Given the description of an element on the screen output the (x, y) to click on. 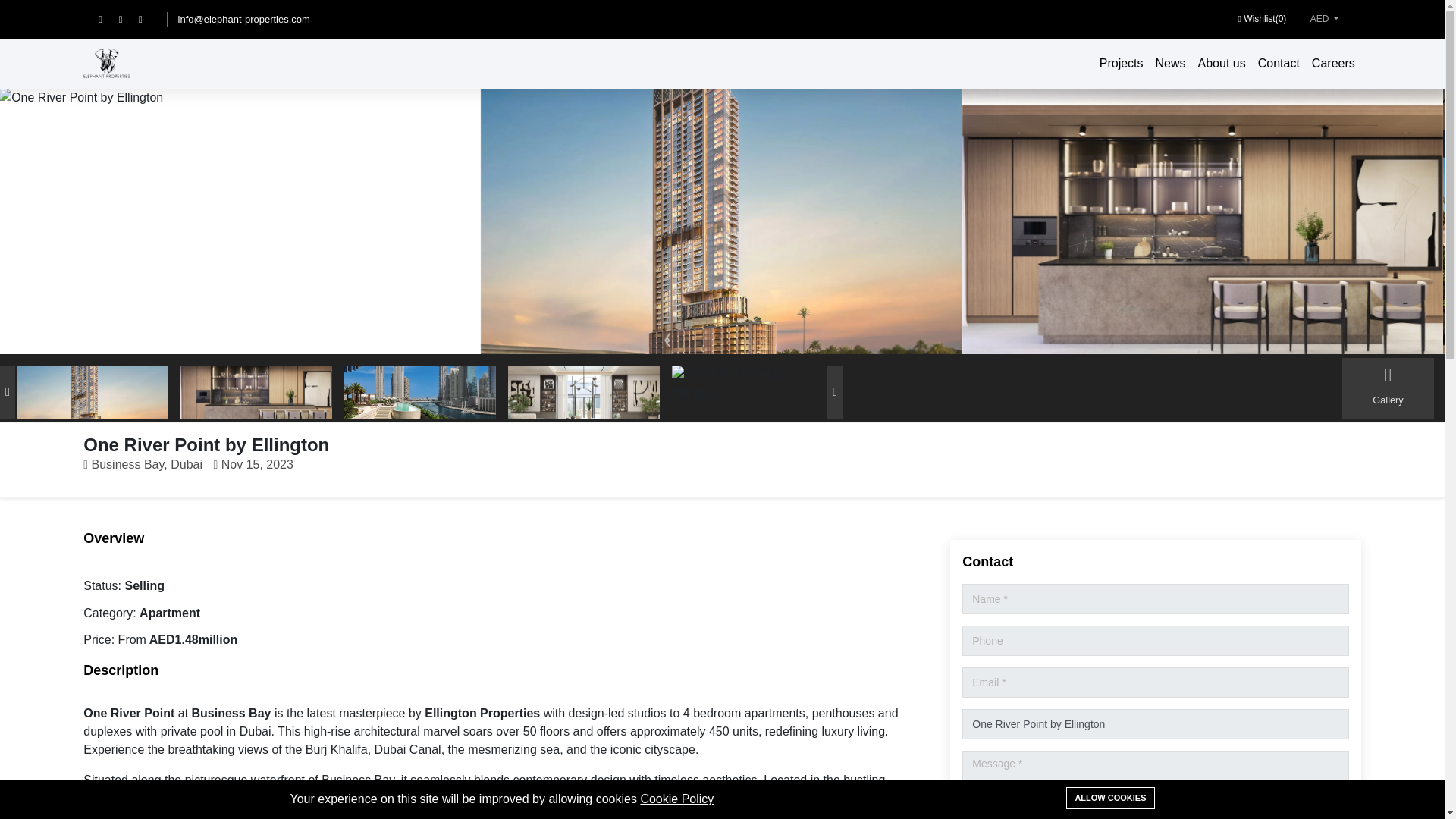
Careers (1333, 63)
Facebook (108, 19)
One River Point by Ellington (1203, 220)
One River Point by Ellington (1155, 724)
Contact (1279, 63)
Youtube (146, 19)
Instagram (128, 19)
Projects (1121, 63)
One River Point by Ellington (721, 220)
News (1171, 63)
